Given the description of an element on the screen output the (x, y) to click on. 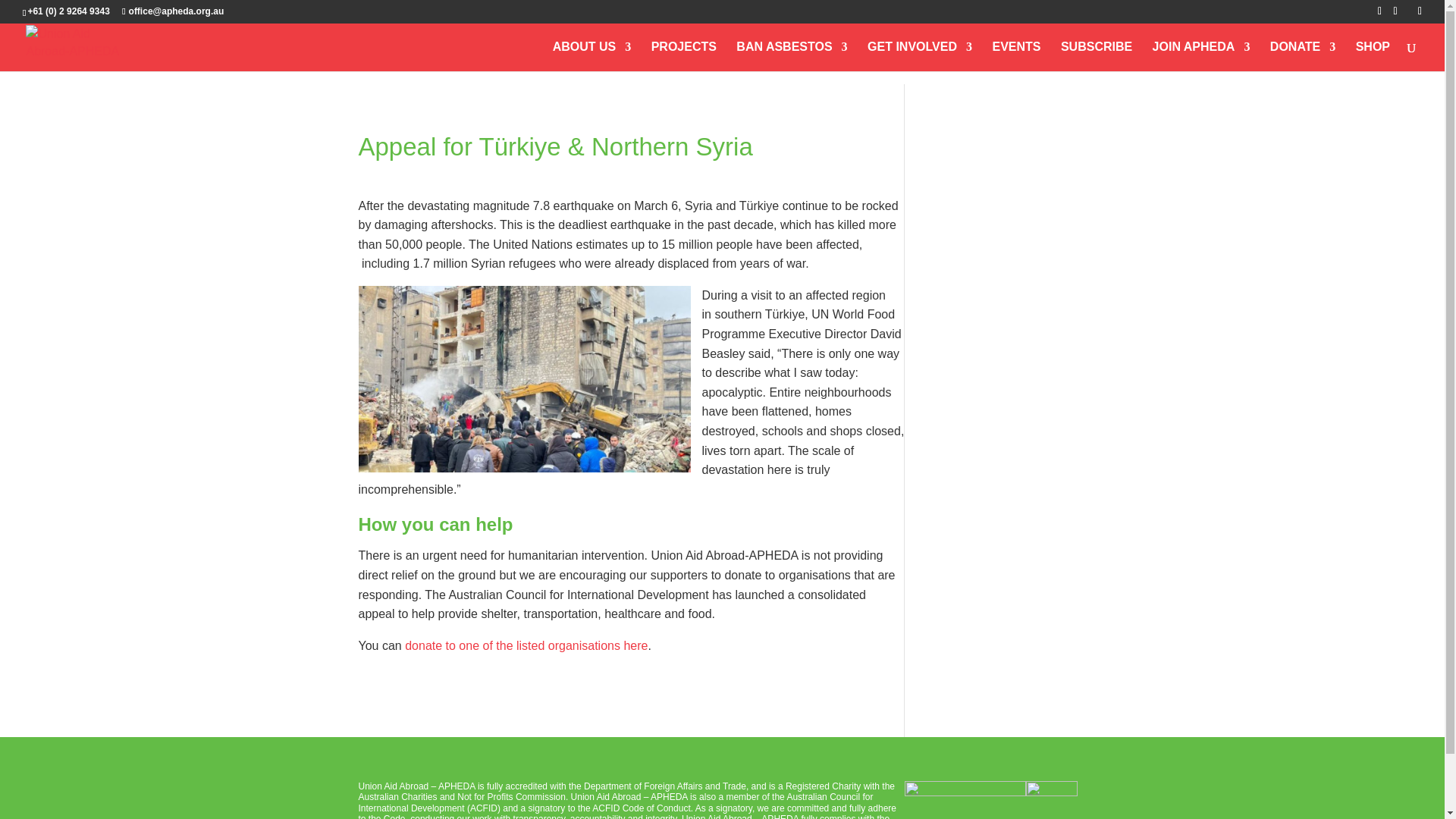
BAN ASBESTOS (791, 56)
PROJECTS (683, 56)
JOIN APHEDA (1201, 56)
DONATE (1302, 56)
GET INVOLVED (919, 56)
SUBSCRIBE (1096, 56)
EVENTS (1016, 56)
ABOUT US (592, 56)
